Given the description of an element on the screen output the (x, y) to click on. 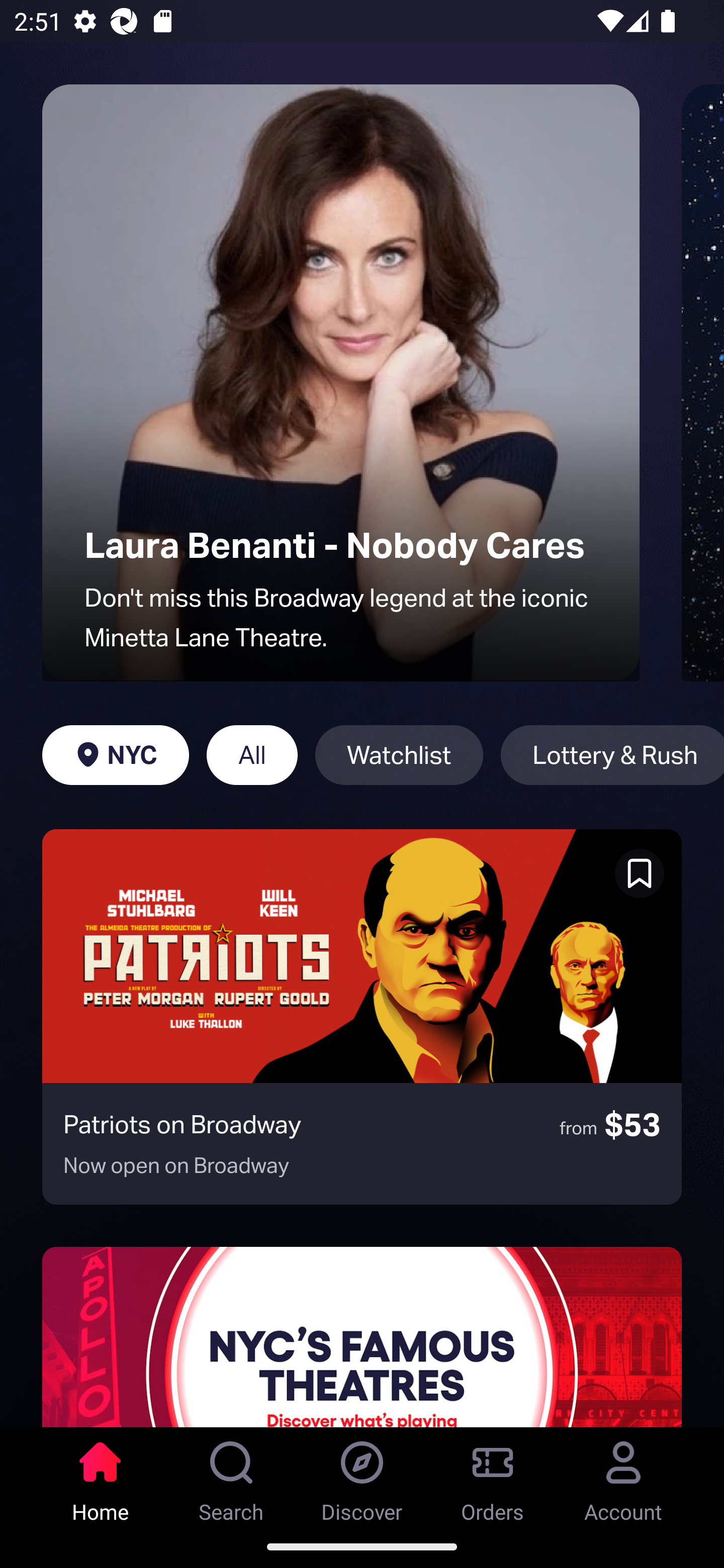
NYC (114, 754)
All (251, 754)
Watchlist (398, 754)
Lottery & Rush (612, 754)
Patriots on Broadway from $53 Now open on Broadway (361, 1016)
Search (230, 1475)
Discover (361, 1475)
Orders (492, 1475)
Account (623, 1475)
